Given the description of an element on the screen output the (x, y) to click on. 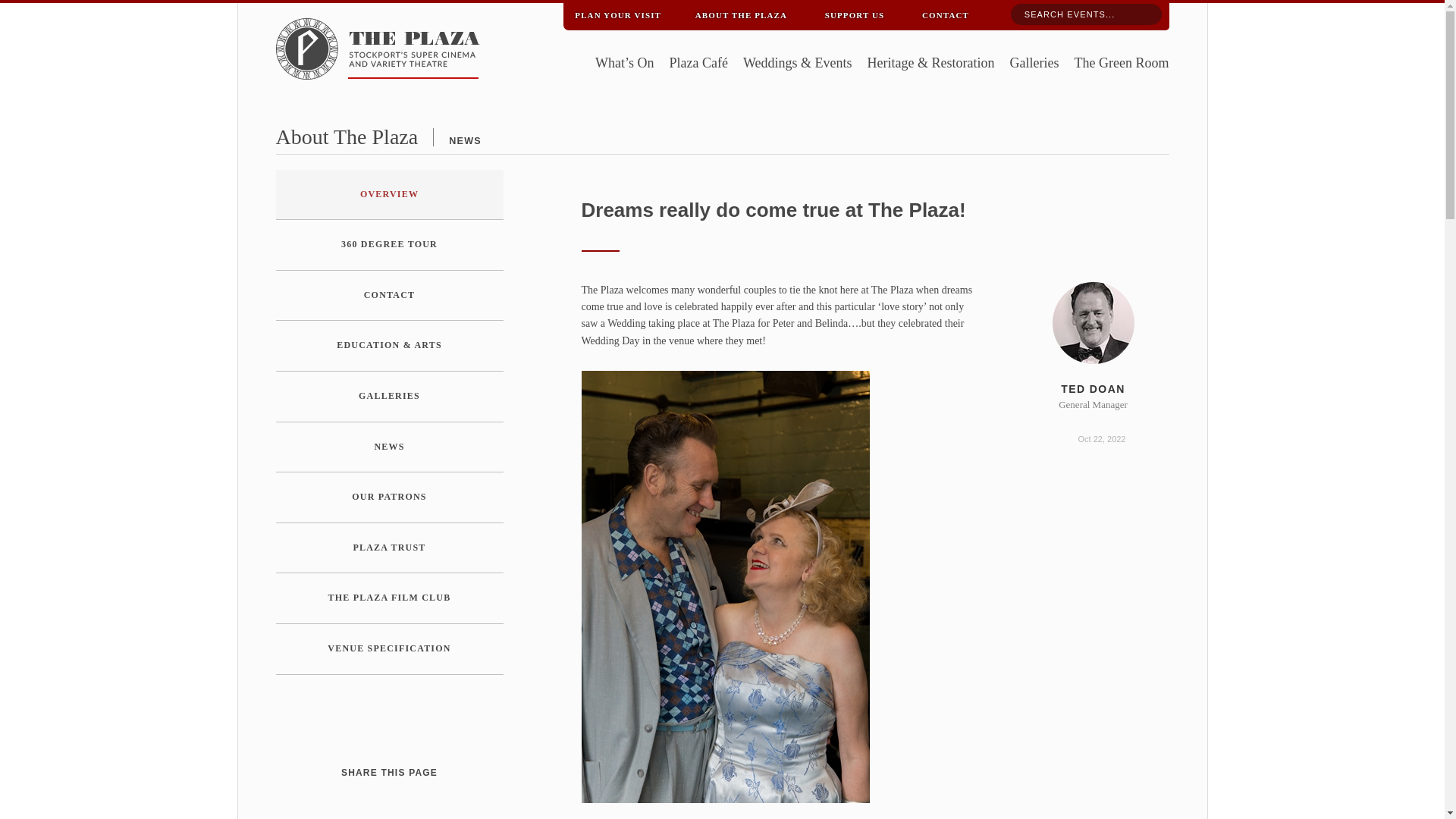
CONTACT (389, 296)
About The Plaza (347, 136)
PLAN YOUR VISIT (617, 12)
NEWS (464, 140)
ABOUT THE PLAZA (740, 12)
The Green Room (1121, 64)
submit (1143, 15)
CONTACT (945, 12)
submit (1143, 15)
360 DEGREE TOUR (389, 245)
